Given the description of an element on the screen output the (x, y) to click on. 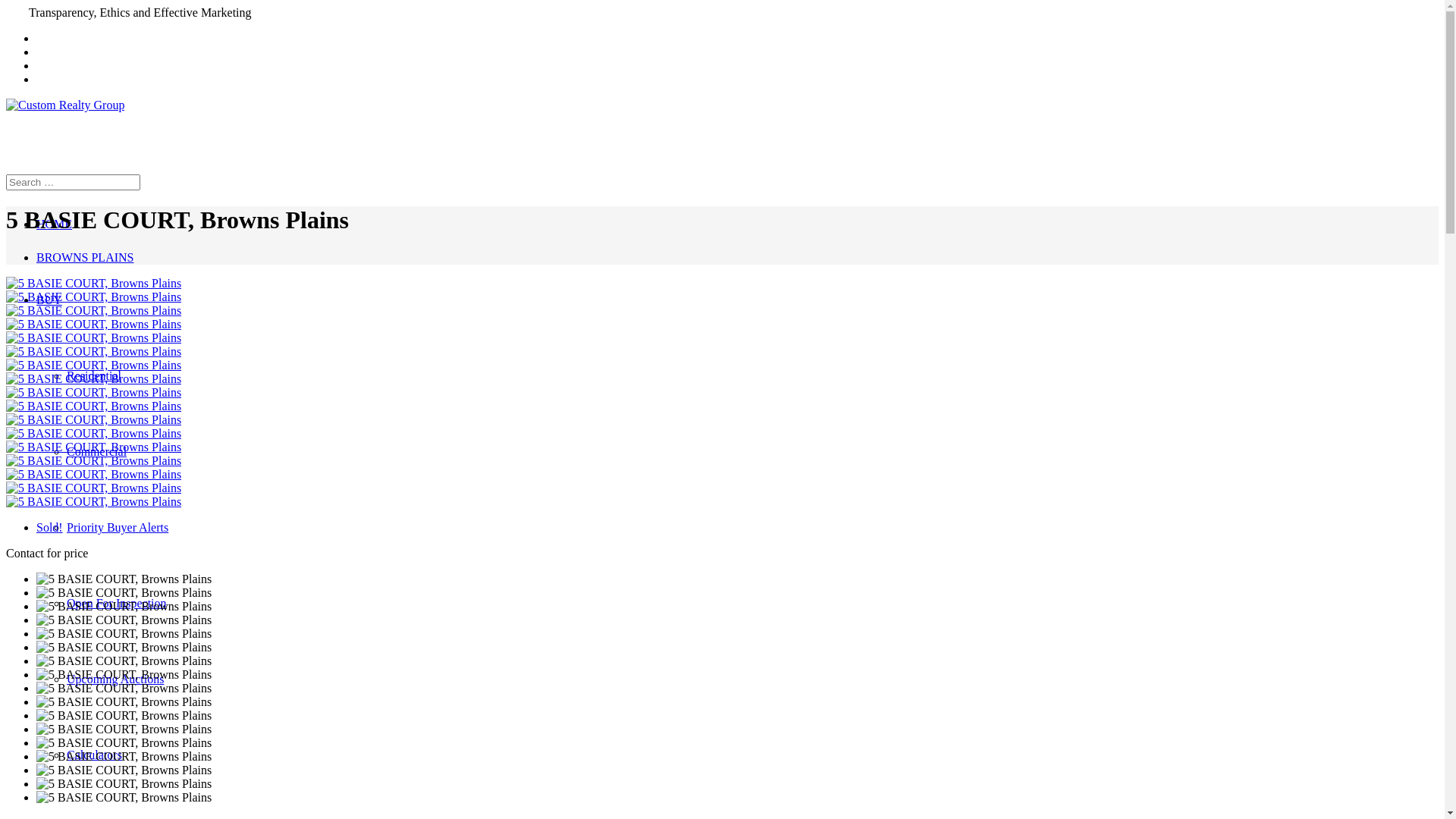
Priority Buyer Alerts Element type: text (117, 526)
5 BASIE COURT, Browns Plains Element type: hover (93, 460)
Open For Inspection Element type: text (116, 602)
BROWNS PLAINS Element type: text (84, 257)
5 BASIE COURT, Browns Plains Element type: hover (93, 296)
5 BASIE COURT, Browns Plains Element type: hover (93, 446)
5 BASIE COURT, Browns Plains Element type: hover (93, 337)
Sold! Element type: text (49, 526)
5 BASIE COURT, Browns Plains Element type: hover (93, 378)
Calculators Element type: text (94, 754)
5 BASIE COURT, Browns Plains Element type: hover (93, 323)
5 BASIE COURT, Browns Plains Element type: hover (93, 419)
5 BASIE COURT, Browns Plains Element type: hover (93, 282)
5 BASIE COURT, Browns Plains Element type: hover (93, 405)
Upcoming Auctions Element type: text (114, 678)
Commercial Element type: text (96, 451)
5 BASIE COURT, Browns Plains Element type: hover (93, 473)
5 BASIE COURT, Browns Plains Element type: hover (93, 391)
BUY Element type: text (49, 299)
Residential Element type: text (93, 375)
5 BASIE COURT, Browns Plains Element type: hover (93, 310)
HOME Element type: text (54, 223)
5 BASIE COURT, Browns Plains Element type: hover (93, 364)
5 BASIE COURT, Browns Plains Element type: hover (93, 351)
5 BASIE COURT, Browns Plains Element type: hover (93, 487)
5 BASIE COURT, Browns Plains Element type: hover (93, 501)
5 BASIE COURT, Browns Plains Element type: hover (93, 432)
